Given the description of an element on the screen output the (x, y) to click on. 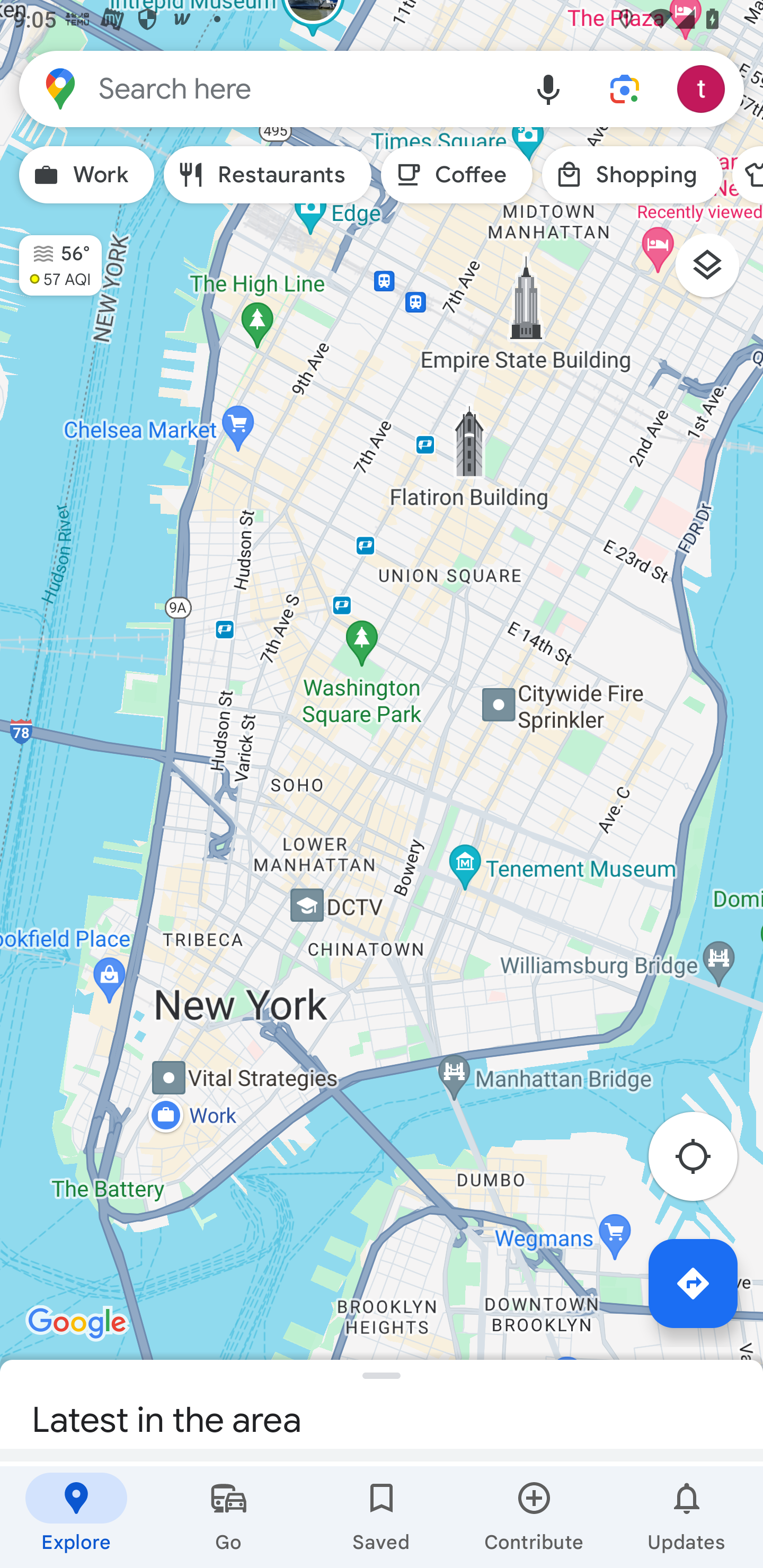
Search here (264, 88)
Voice search (548, 88)
Lens in Maps (624, 88)
Account and settings. (703, 88)
Work (86, 174)
Restaurants Search for Restaurants (267, 174)
Coffee Search for Coffee (456, 174)
Shopping Search for Shopping (631, 174)
Mist, 56°, Moderate, 57 AQI 56° 57 AQI (50, 257)
Layers (716, 271)
Re-center map to your location (702, 1161)
Directions (692, 1283)
Go (228, 1517)
Saved (381, 1517)
Contribute (533, 1517)
Updates (686, 1517)
